Given the description of an element on the screen output the (x, y) to click on. 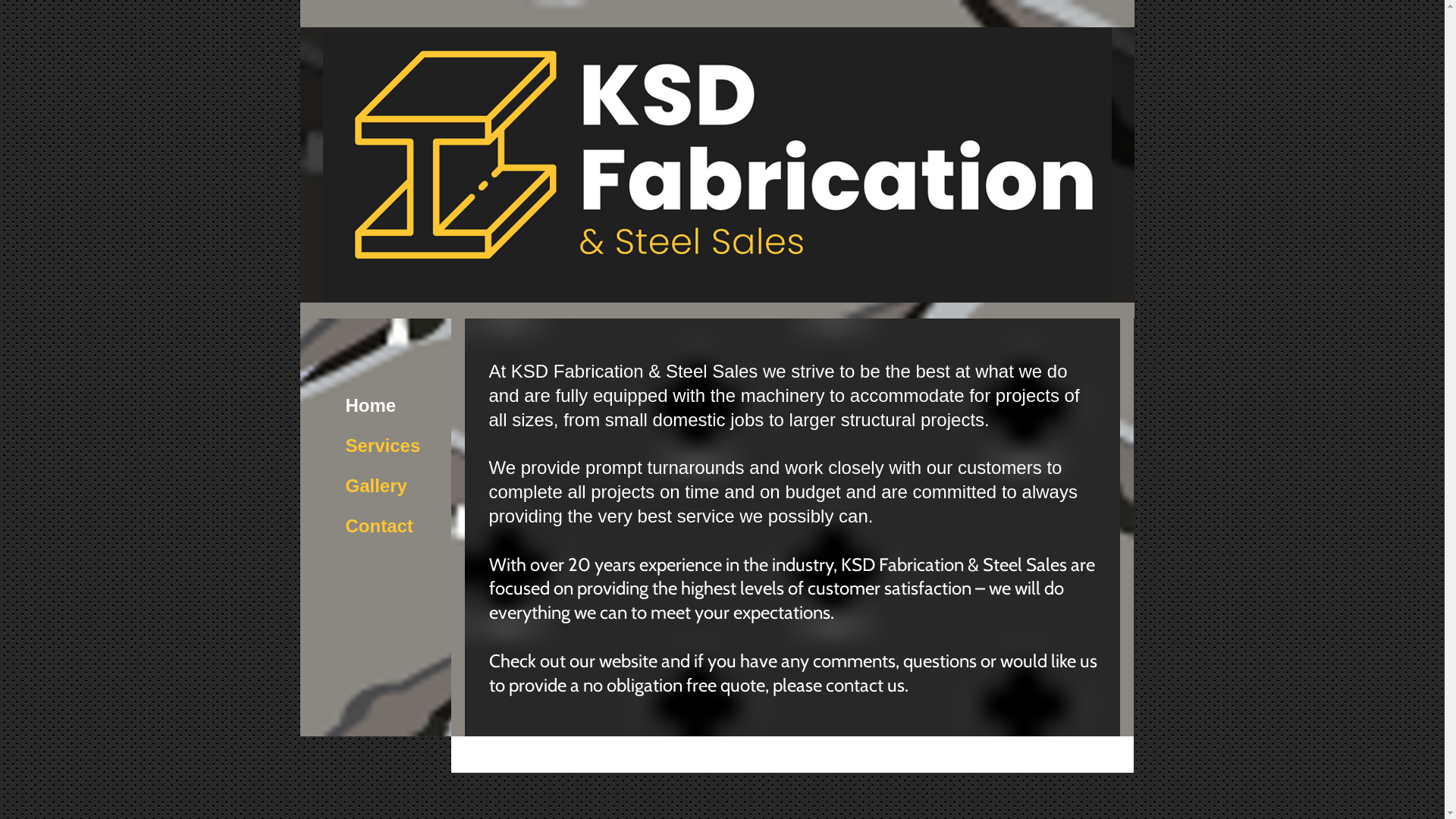
Services Element type: text (383, 445)
Home Element type: text (371, 405)
Contact Element type: text (379, 526)
Gallery Element type: text (376, 486)
